Given the description of an element on the screen output the (x, y) to click on. 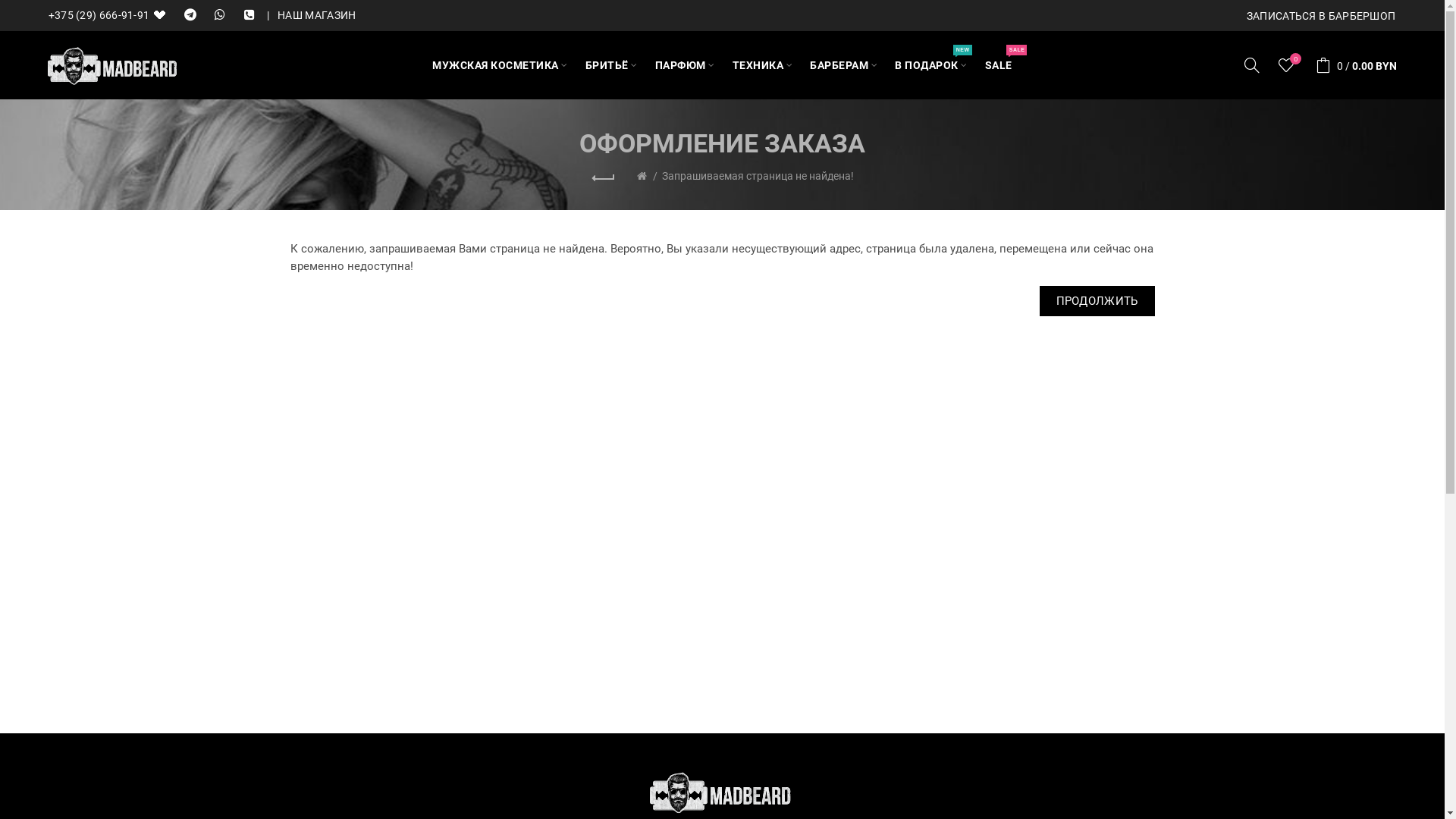
0 Element type: text (1287, 65)
+375 (29) 666-91-91 Element type: text (111, 15)
Madbeard.by Element type: hover (111, 65)
SALE
SALE Element type: text (998, 64)
0 / 0.00 BYN Element type: text (1352, 65)
